Given the description of an element on the screen output the (x, y) to click on. 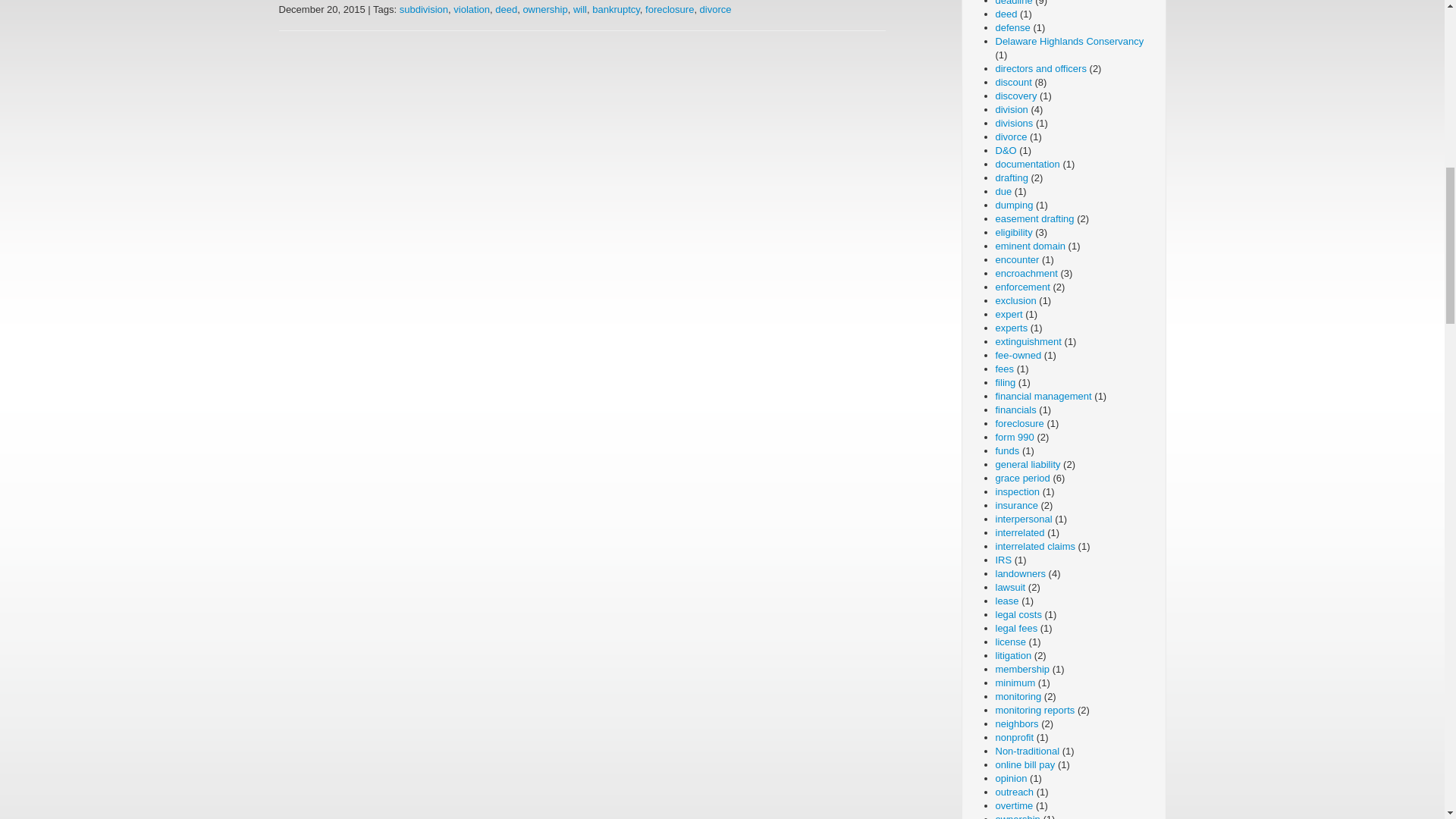
will (579, 9)
foreclosure (669, 9)
deed (505, 9)
subdivision (423, 9)
violation (470, 9)
bankruptcy (616, 9)
ownership (544, 9)
divorce (716, 9)
